Given the description of an element on the screen output the (x, y) to click on. 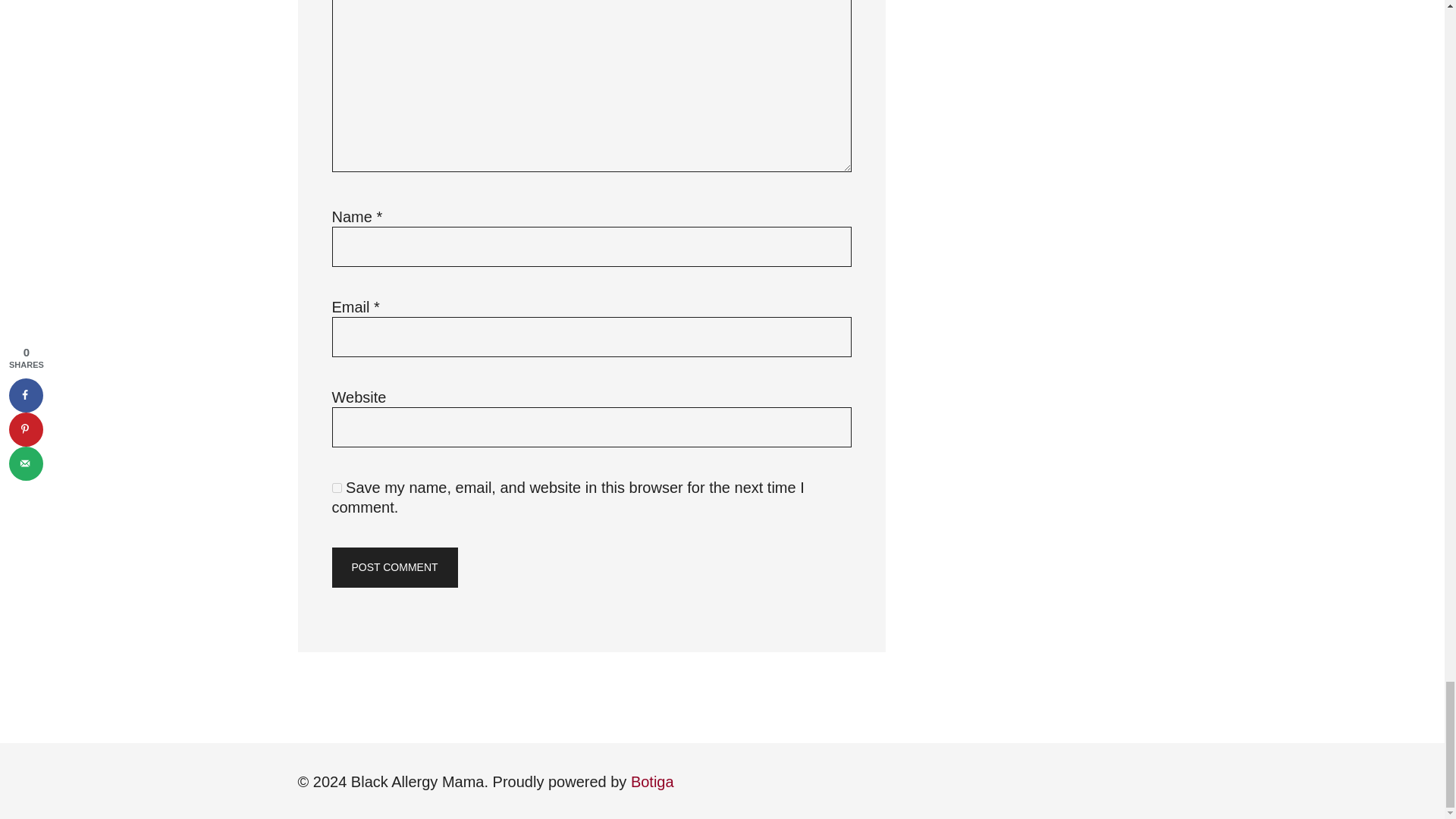
Post Comment (394, 567)
yes (336, 488)
